Given the description of an element on the screen output the (x, y) to click on. 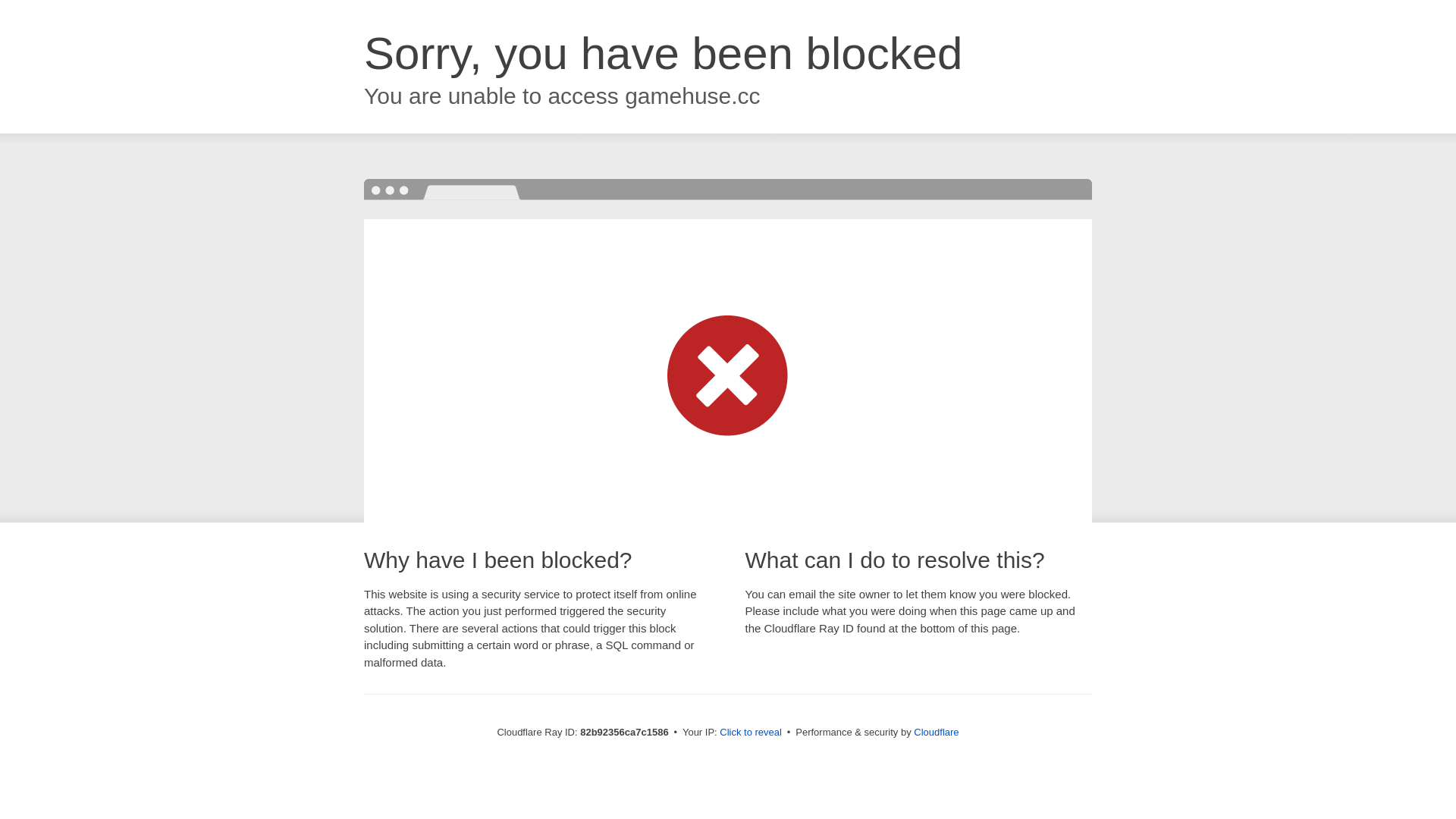
Click to reveal Element type: text (750, 732)
Cloudflare Element type: text (935, 731)
